Given the description of an element on the screen output the (x, y) to click on. 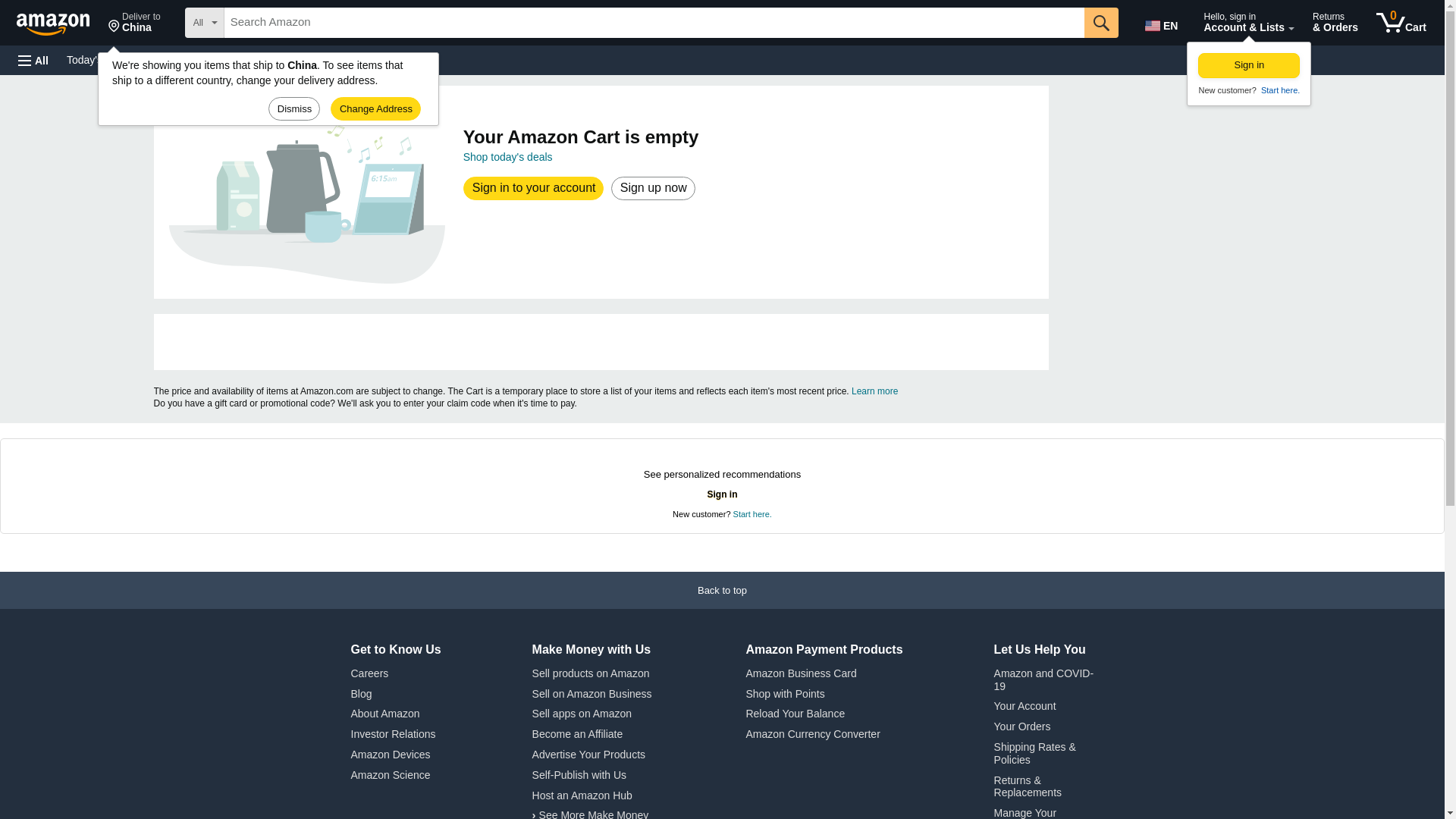
Skip to main content (60, 21)
Today's Deals (99, 59)
EN (134, 22)
Customer Service (1163, 22)
Sign in (192, 59)
Registry (1249, 65)
Start here. (272, 59)
Sign in to your account (1279, 90)
All (534, 188)
Sign up now (33, 60)
Go (652, 188)
Shop today's deals (1101, 22)
